Given the description of an element on the screen output the (x, y) to click on. 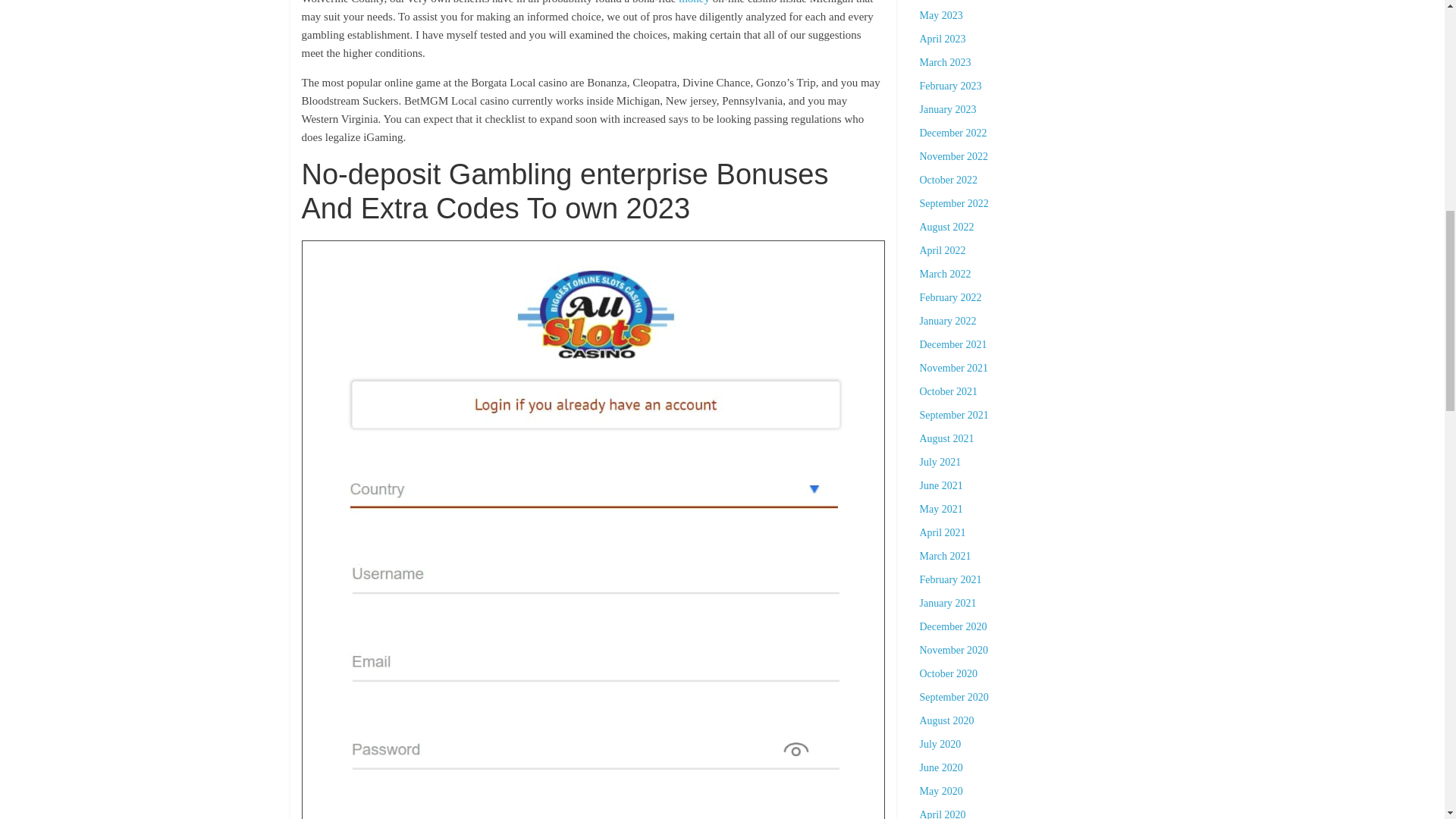
money (694, 2)
May 2023 (940, 15)
